Given the description of an element on the screen output the (x, y) to click on. 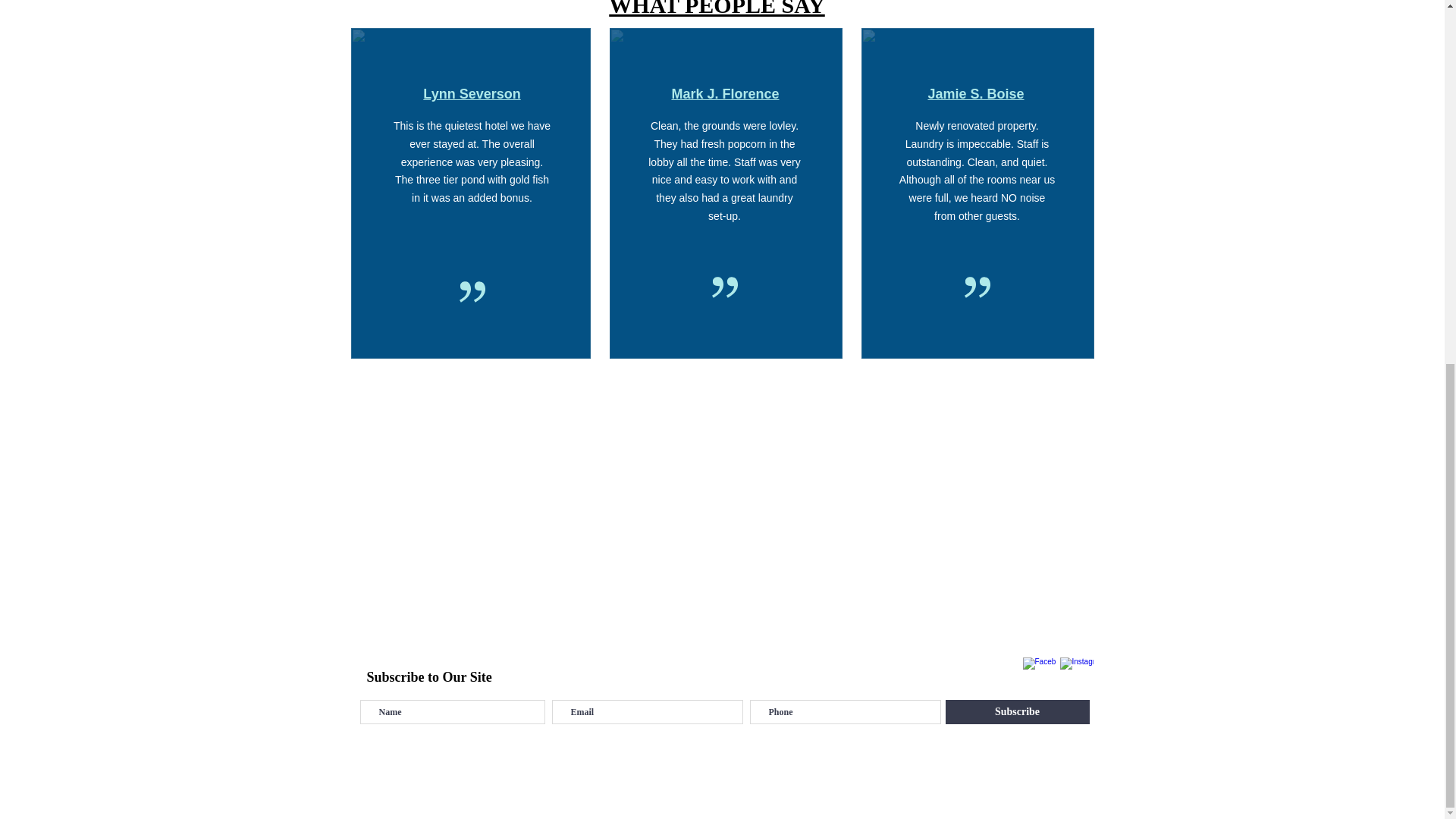
Lynn Severson (471, 93)
Subscribe (1016, 711)
Mark J. Florence (724, 93)
WHAT PEOPLE SAY (716, 8)
Jamie S. Boise (975, 93)
